Given the description of an element on the screen output the (x, y) to click on. 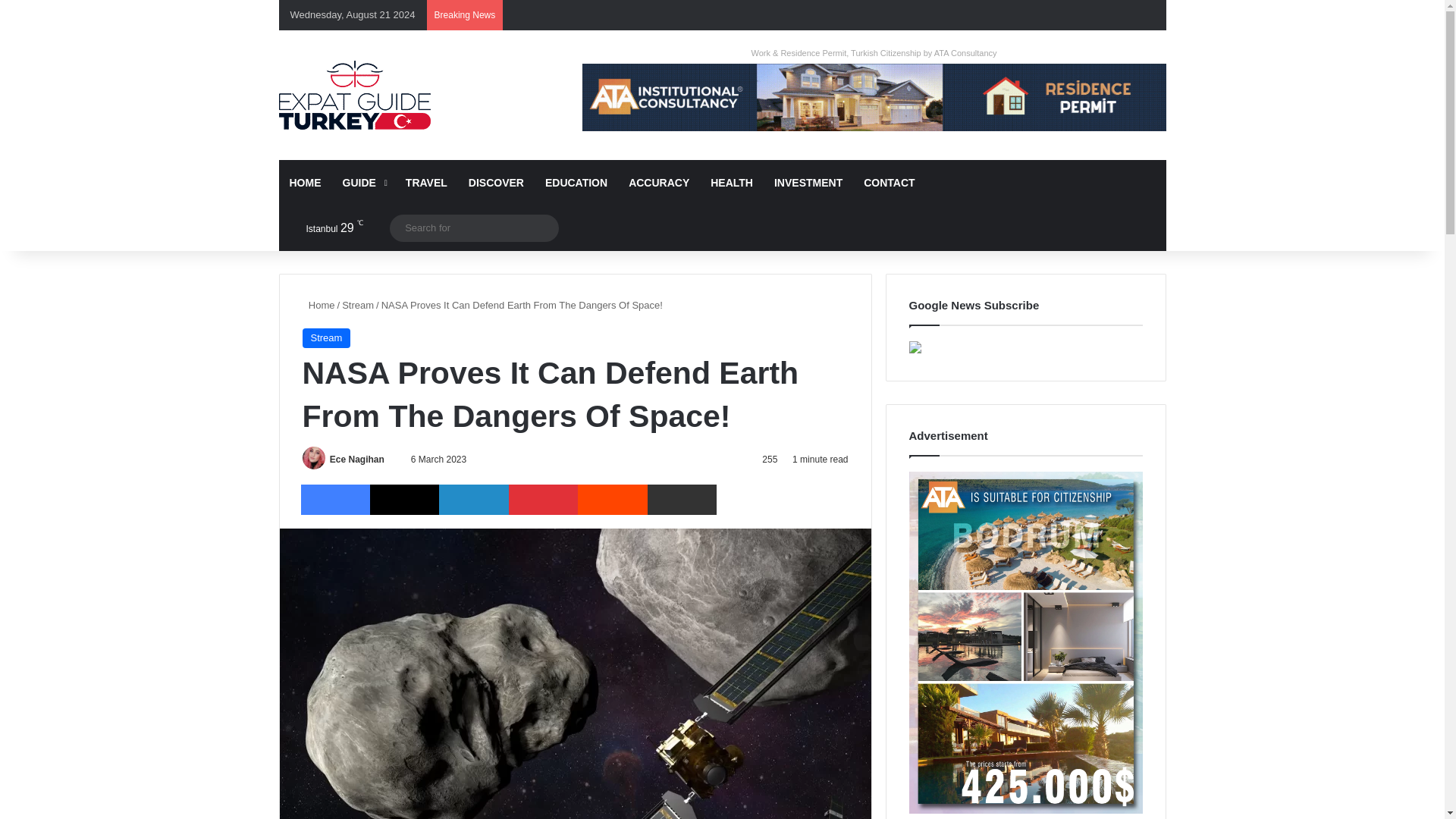
Facebook (334, 499)
DISCOVER (496, 182)
HEALTH (731, 182)
Search for (543, 227)
Stream (325, 338)
Ece Nagihan (357, 459)
X (404, 499)
LinkedIn (473, 499)
EDUCATION (575, 182)
HOME (305, 182)
